Given the description of an element on the screen output the (x, y) to click on. 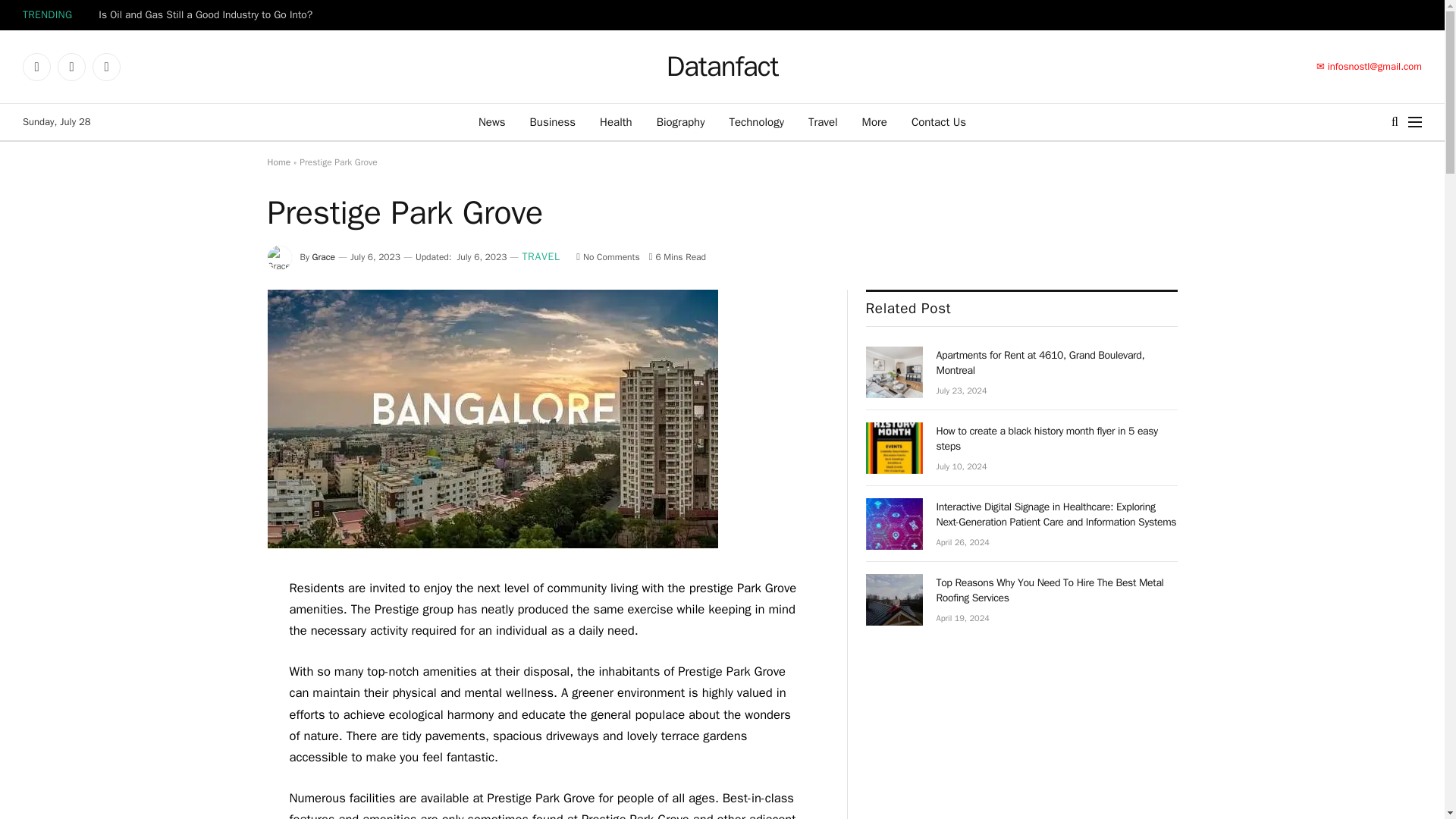
Grace (323, 256)
News (491, 122)
No Comments (607, 256)
Biography (681, 122)
Datanfact (722, 66)
datanfact (722, 66)
Technology (756, 122)
More (874, 122)
TRAVEL (540, 257)
Is Oil and Gas Still a Good Industry to Go Into? (209, 15)
Contact Us (938, 122)
Business (553, 122)
Instagram (106, 67)
Posts by Grace (323, 256)
Prestige Park Grove (491, 545)
